Given the description of an element on the screen output the (x, y) to click on. 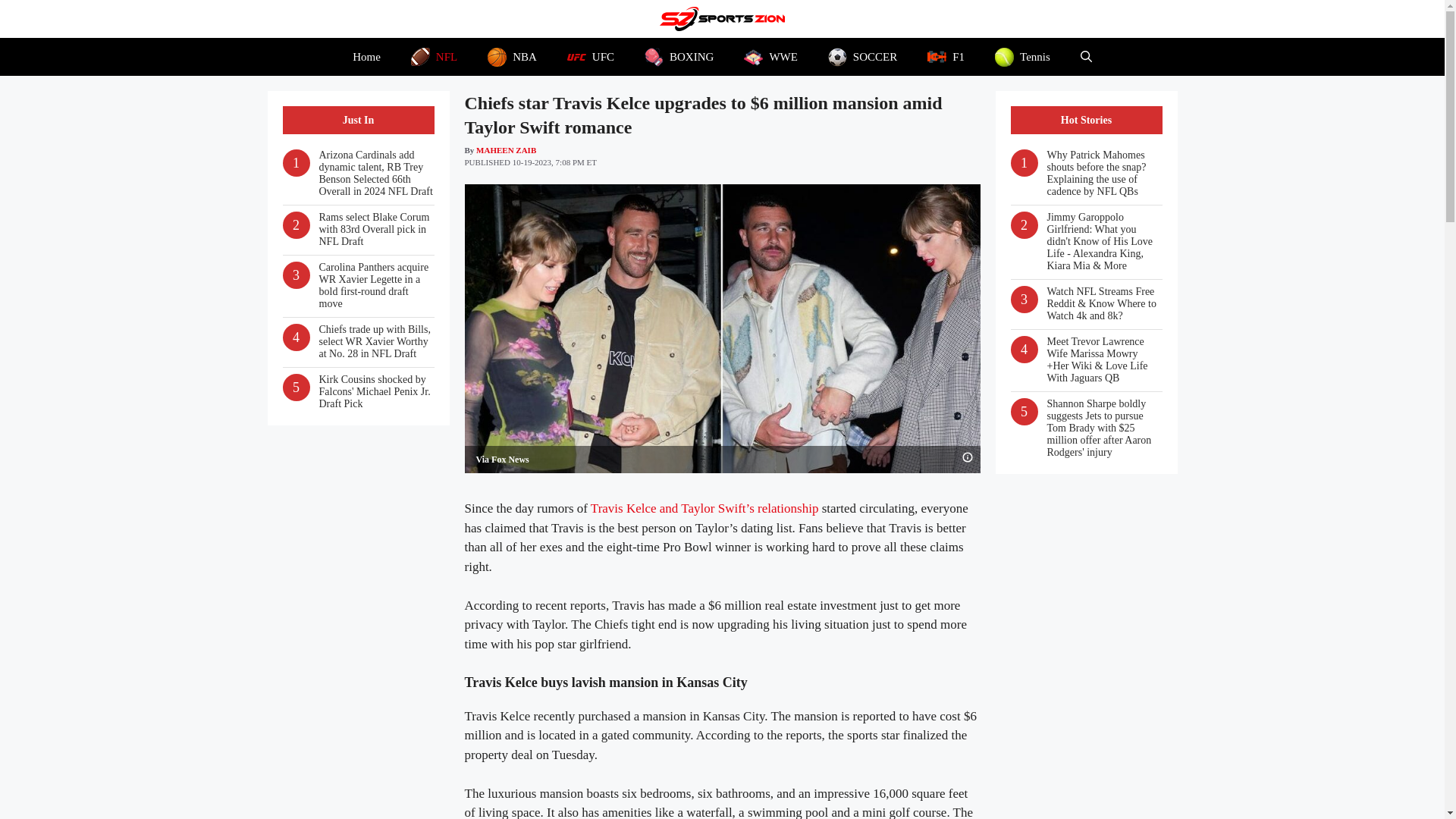
NBA (511, 56)
Home (366, 56)
MAHEEN ZAIB (505, 149)
F1 (945, 56)
WWE (770, 56)
NFL (433, 56)
BOXING (678, 56)
UFC (589, 56)
View all posts by Maheen Zaib (505, 149)
Tennis (1022, 56)
SOCCER (862, 56)
